Given the description of an element on the screen output the (x, y) to click on. 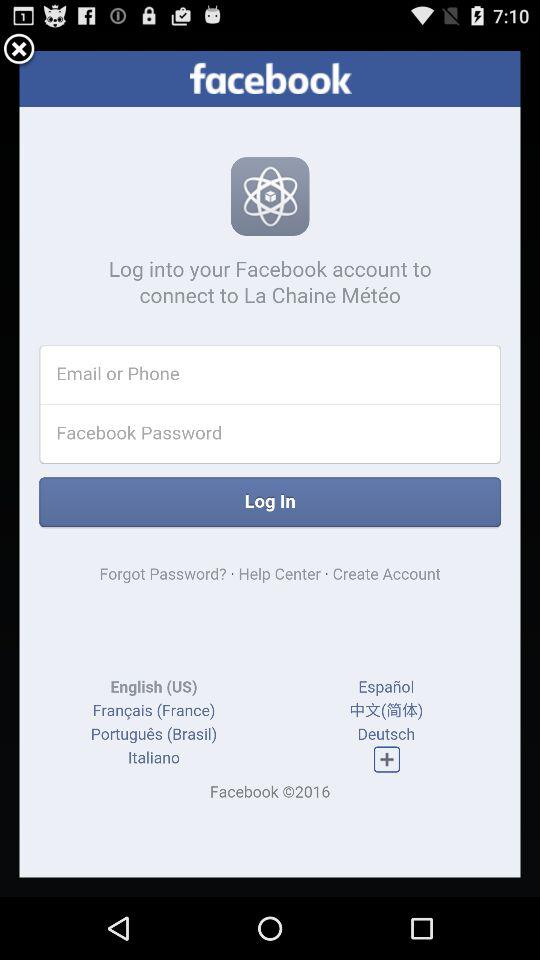
close app (19, 50)
